Given the description of an element on the screen output the (x, y) to click on. 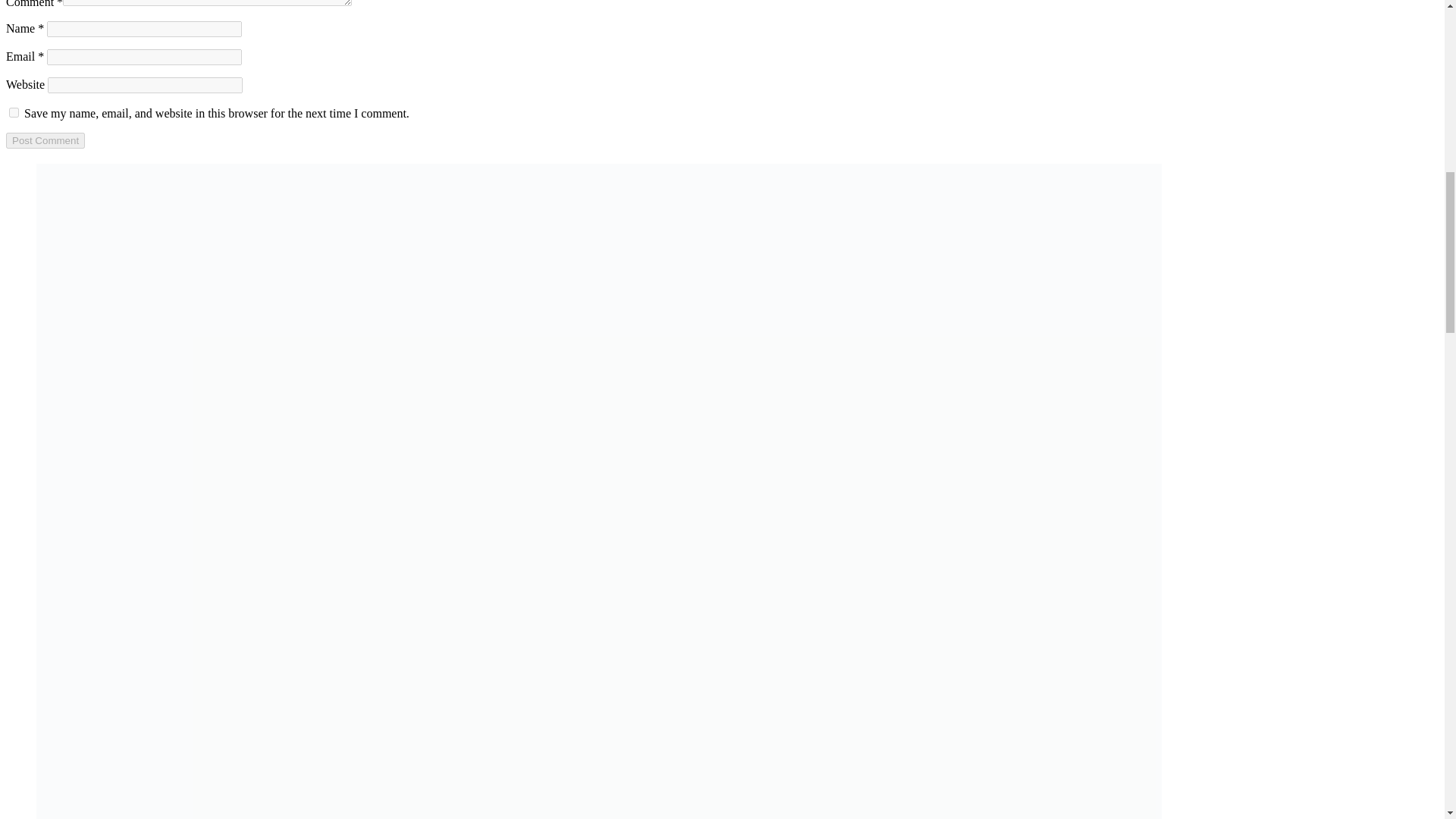
Post Comment (44, 140)
yes (13, 112)
Post Comment (44, 140)
